Given the description of an element on the screen output the (x, y) to click on. 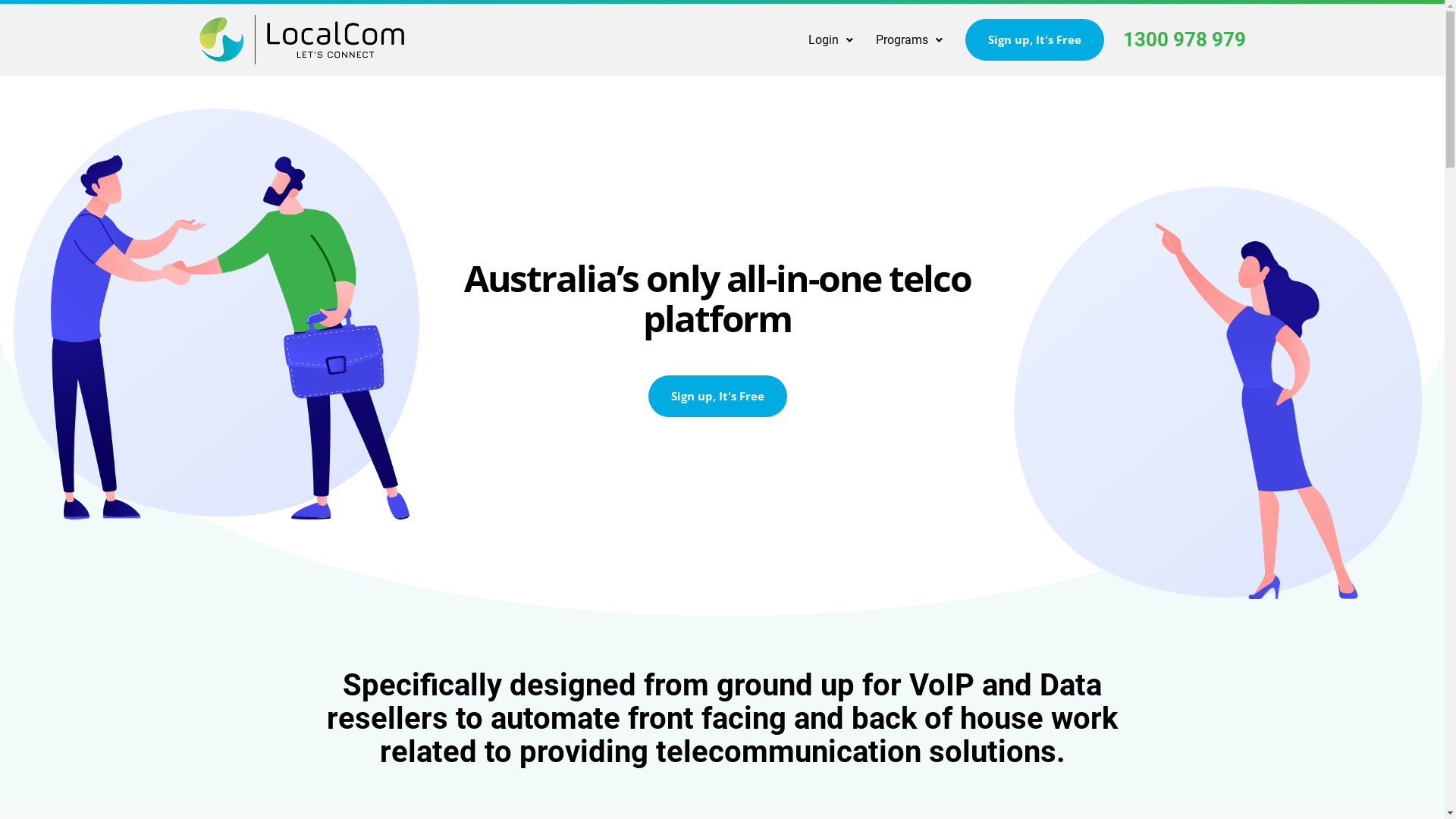
Login Element type: text (829, 39)
1300 978 979 Element type: text (1183, 39)
Programs Element type: text (908, 39)
Sign up, It's Free Element type: text (1033, 39)
Sign up, It's Free Element type: text (717, 396)
